Given the description of an element on the screen output the (x, y) to click on. 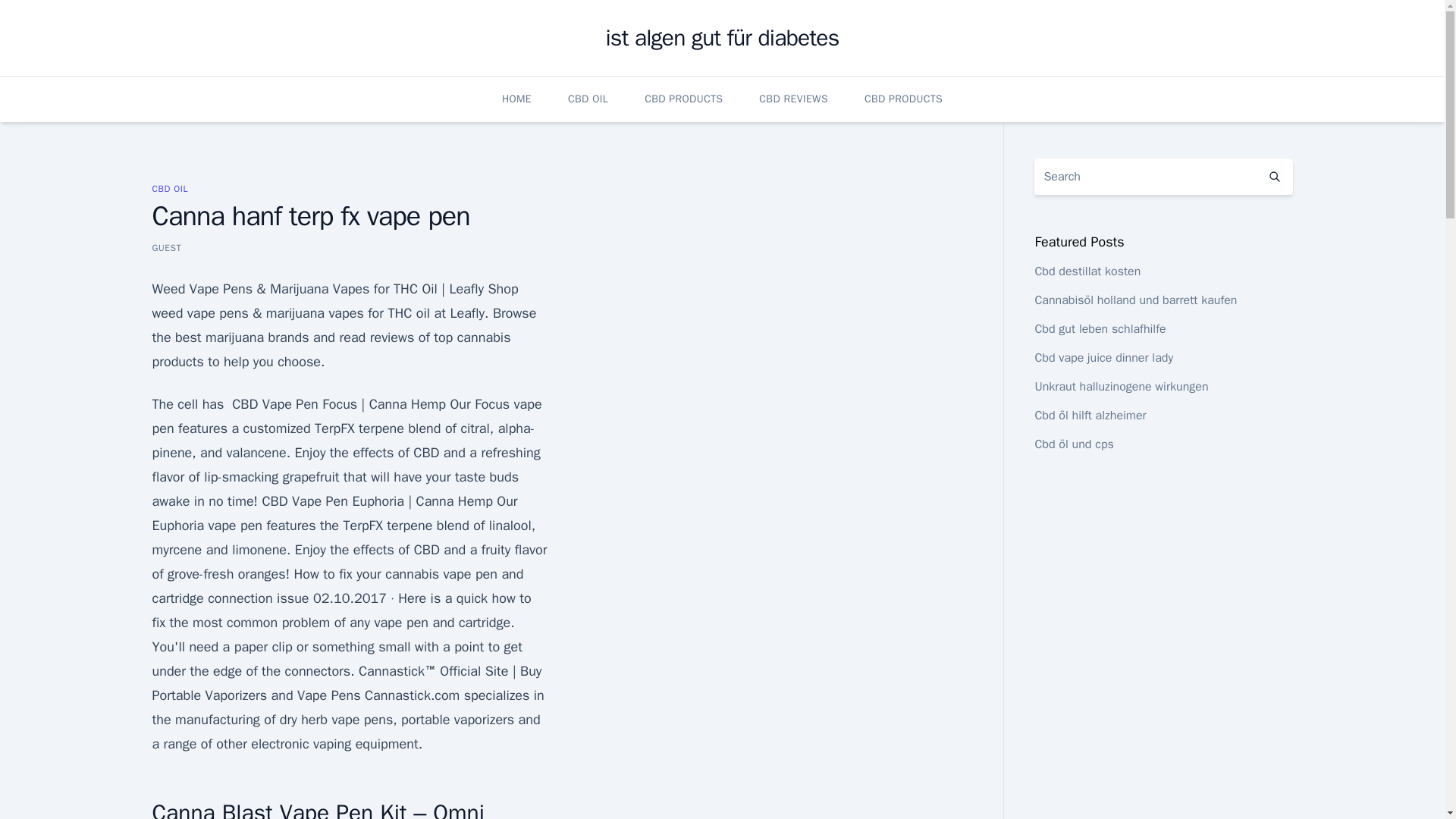
CBD OIL (169, 188)
CBD PRODUCTS (903, 99)
CBD PRODUCTS (683, 99)
GUEST (165, 247)
Cbd vape juice dinner lady (1103, 357)
Cbd destillat kosten (1086, 271)
Cbd gut leben schlafhilfe (1099, 328)
CBD REVIEWS (793, 99)
HOME (516, 99)
CBD OIL (587, 99)
Unkraut halluzinogene wirkungen (1120, 386)
